Given the description of an element on the screen output the (x, y) to click on. 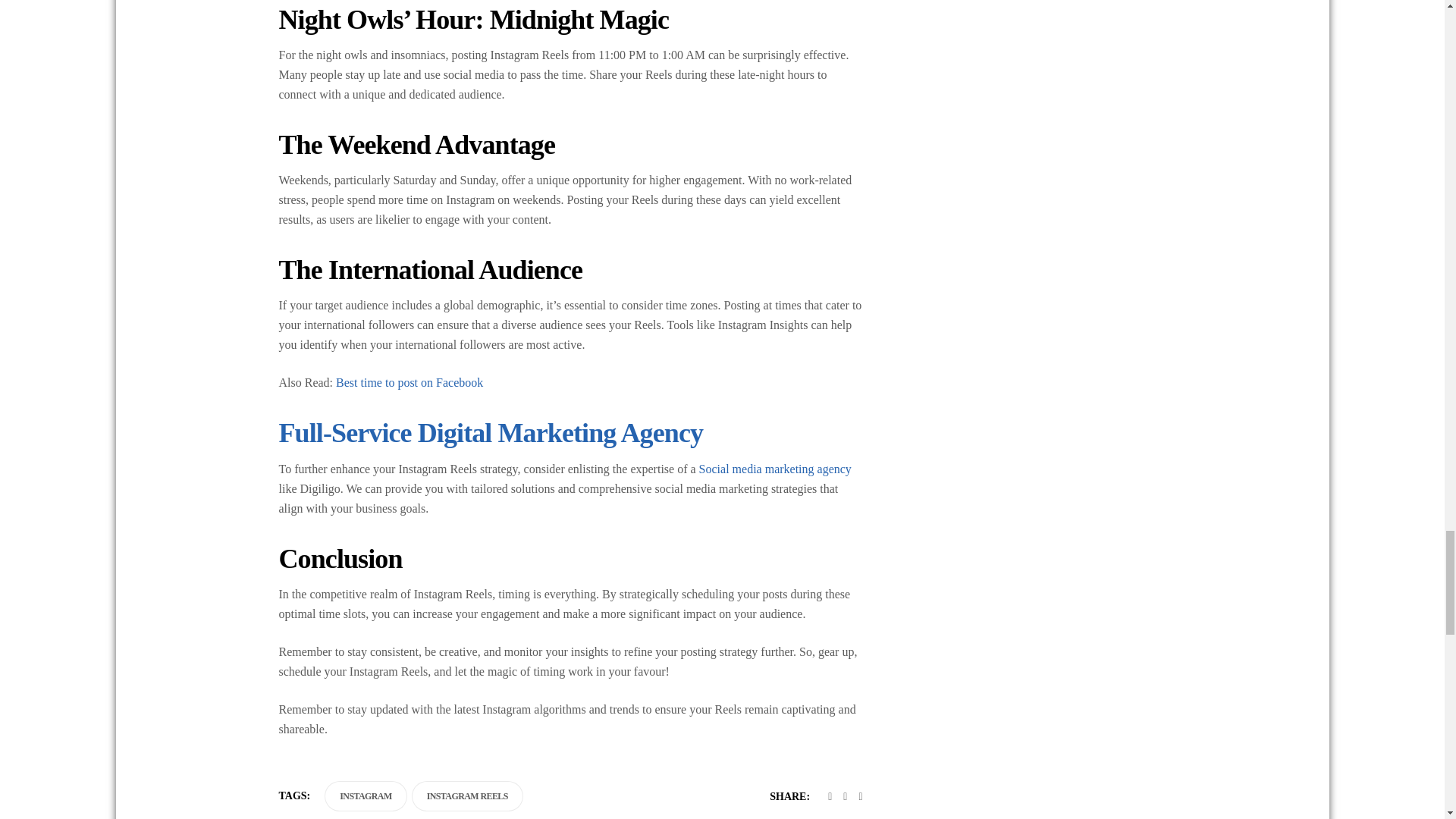
Full-Service Digital Marketing Agency (491, 432)
Best time to post on Facebook (409, 382)
Social media marketing agency (774, 468)
